Given the description of an element on the screen output the (x, y) to click on. 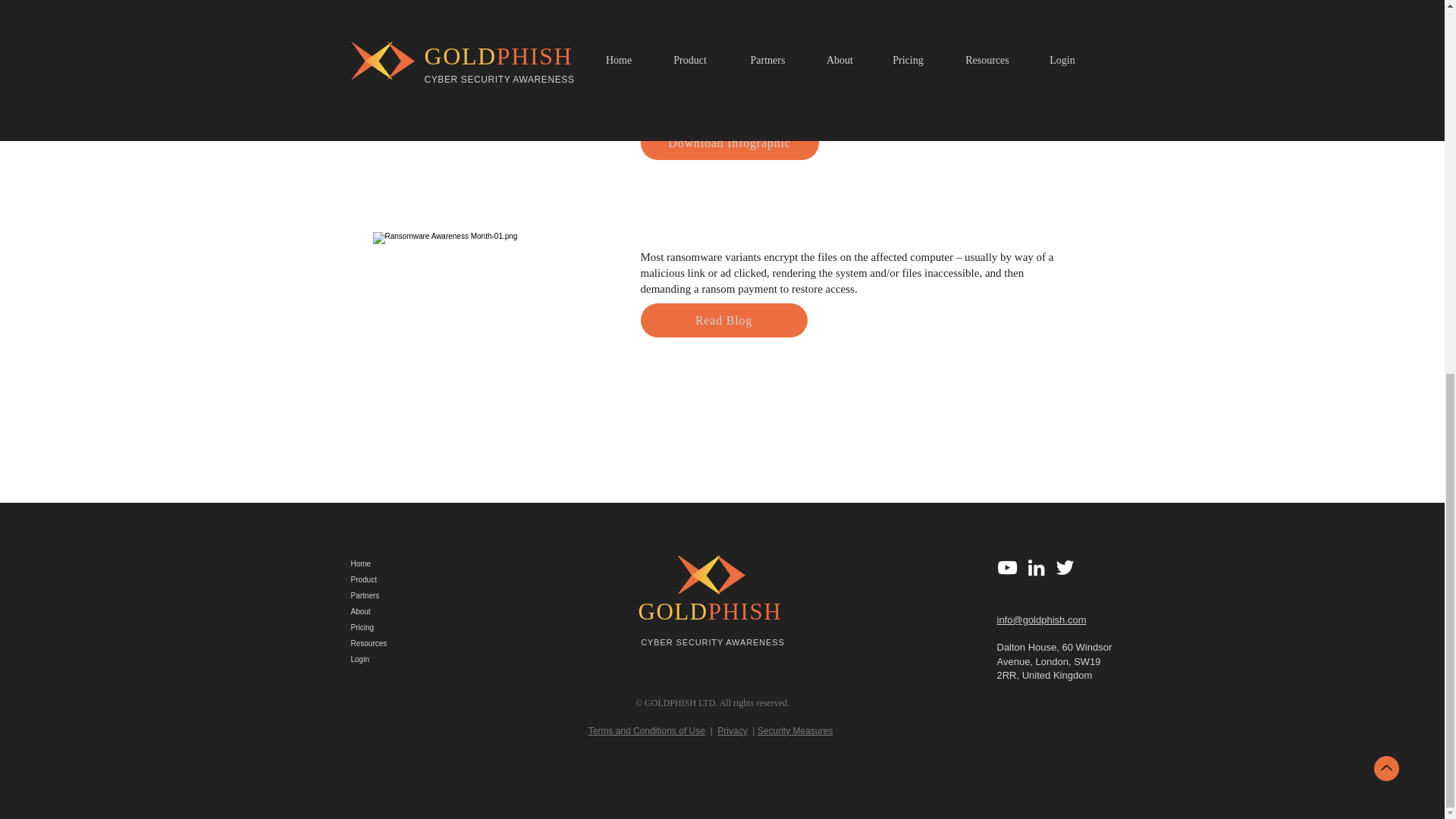
Product (388, 579)
Download Infographic (729, 142)
Partners (388, 595)
Read Blog (723, 320)
Home (388, 563)
About (388, 611)
